Given the description of an element on the screen output the (x, y) to click on. 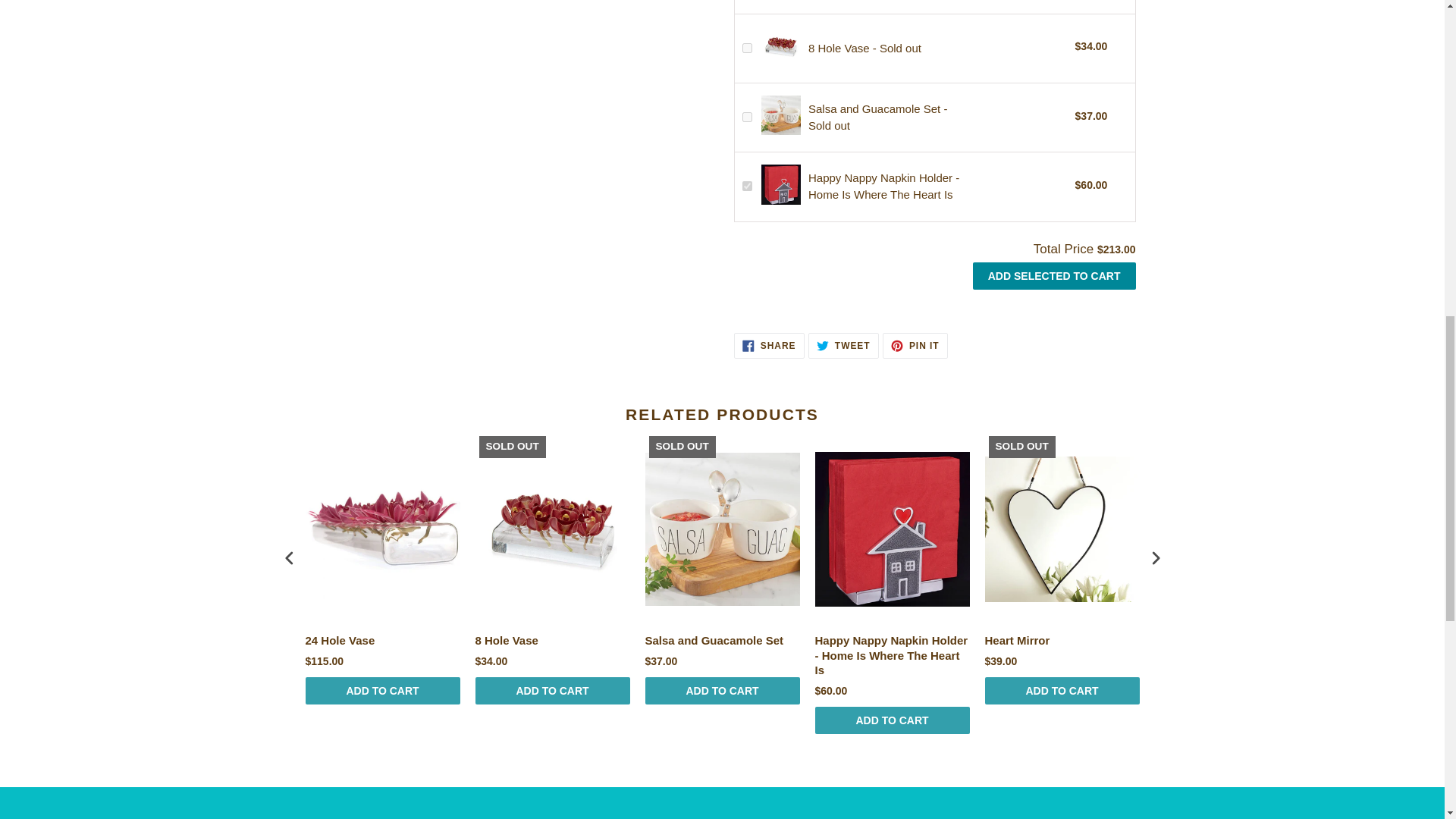
8 Hole Vase - Sold out (864, 47)
Salsa and Guacamole Set - Sold out (877, 116)
ADD SELECTED TO CART (769, 345)
Happy Nappy Napkin Holder - Home Is Where The Heart Is (1053, 275)
